Given the description of an element on the screen output the (x, y) to click on. 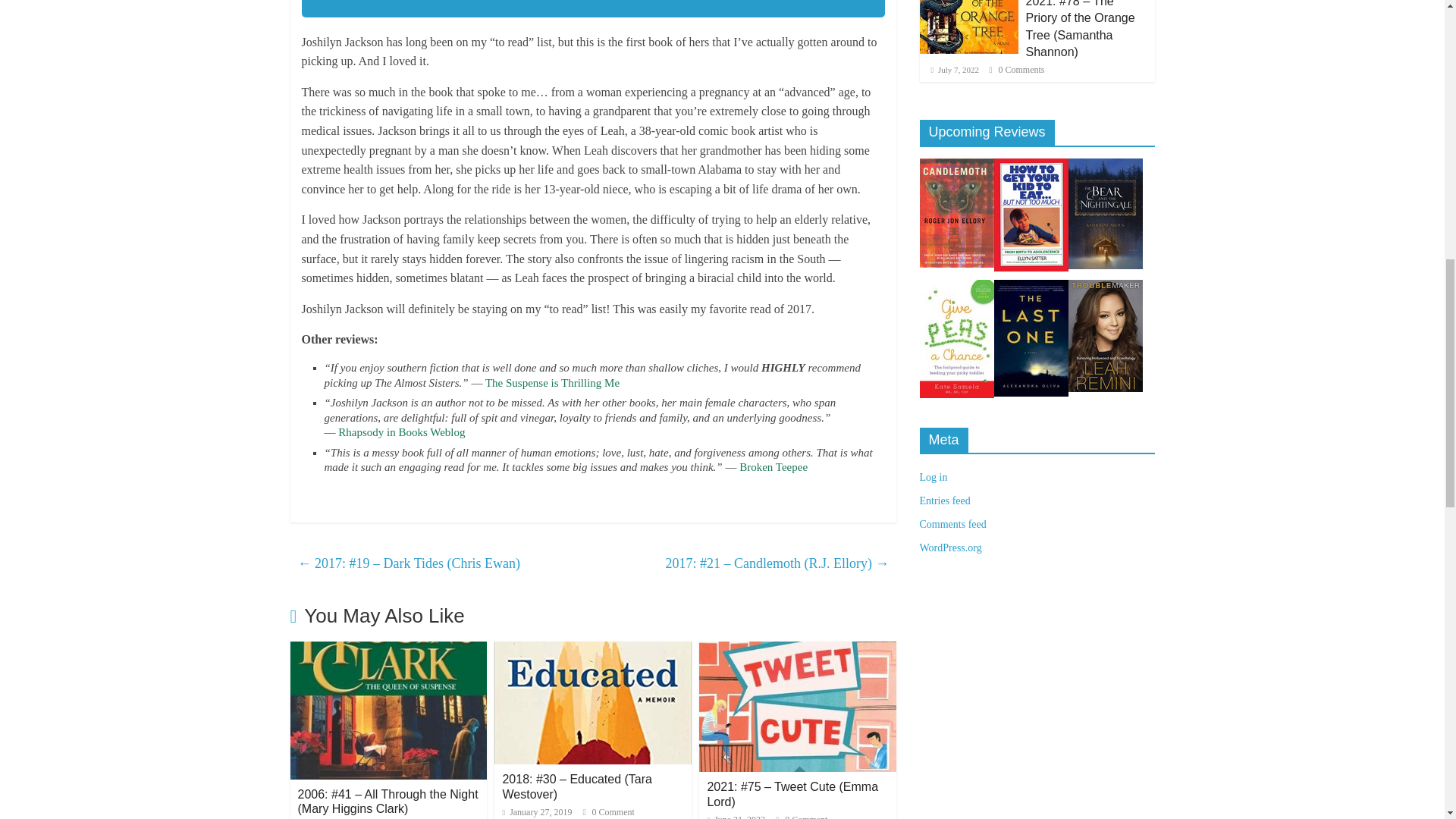
0 Comment (801, 816)
June 21, 2022 (735, 816)
Rhapsody in Books Weblog (400, 431)
0 Comment (607, 811)
Broken Teepee (773, 467)
9:10 am (537, 811)
January 27, 2019 (537, 811)
The Suspense is Thrilling Me (552, 381)
12:56 pm (735, 816)
